Given the description of an element on the screen output the (x, y) to click on. 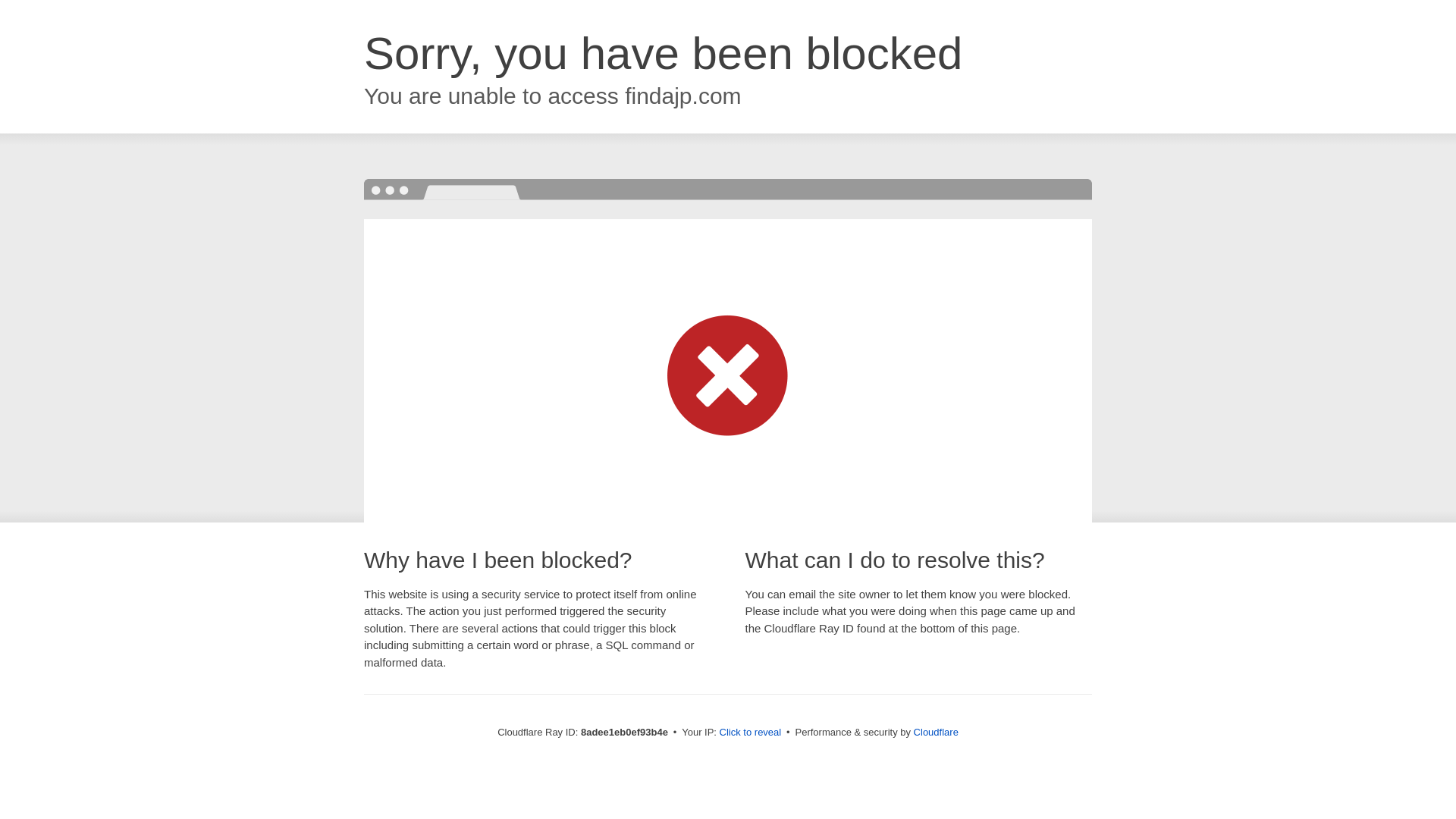
Cloudflare (936, 731)
Click to reveal (750, 732)
